Given the description of an element on the screen output the (x, y) to click on. 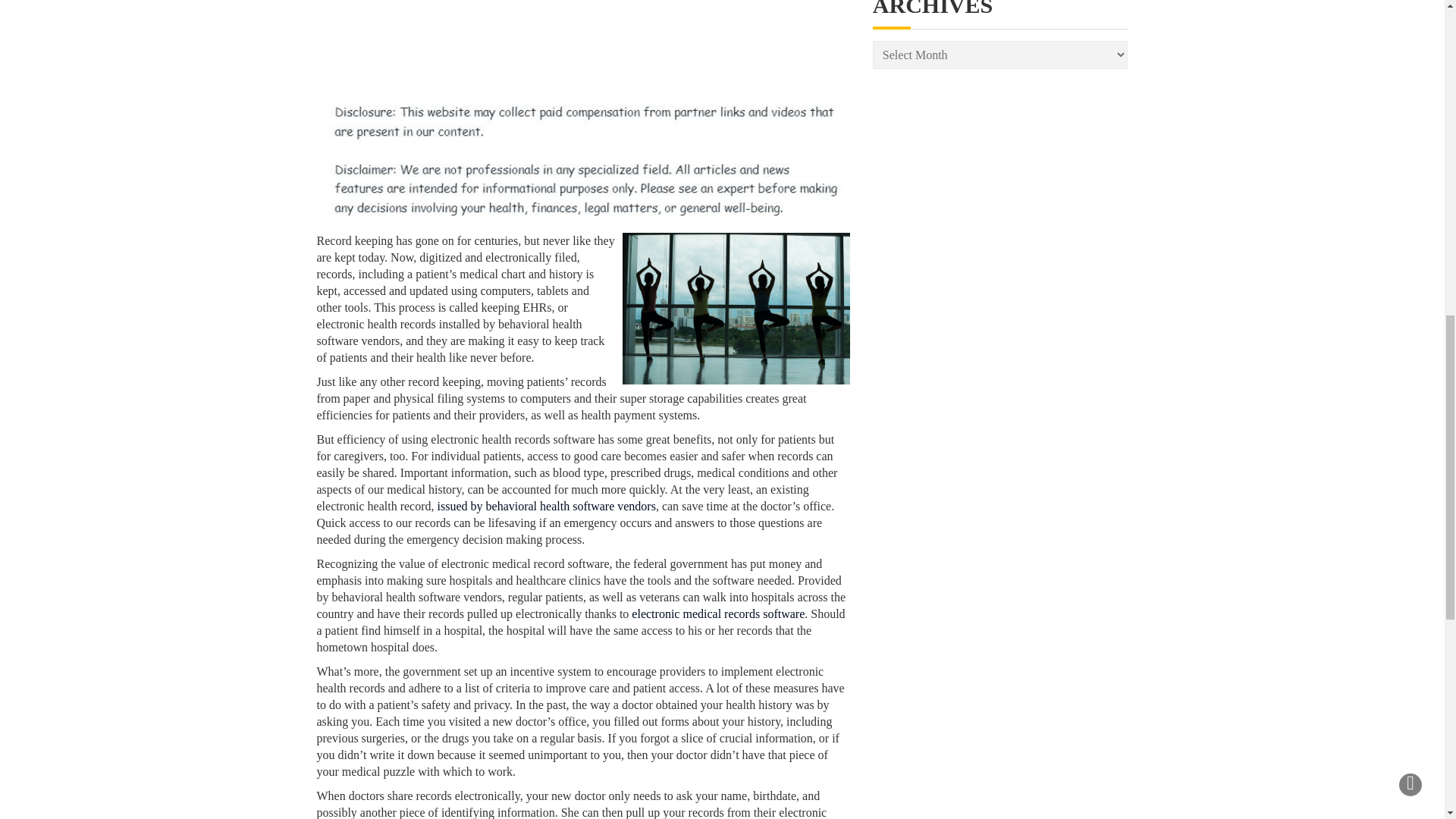
electronic medical records software (718, 613)
Behavioral health software (718, 613)
Something I found (547, 505)
issued by behavioral health software vendors (547, 505)
